Given the description of an element on the screen output the (x, y) to click on. 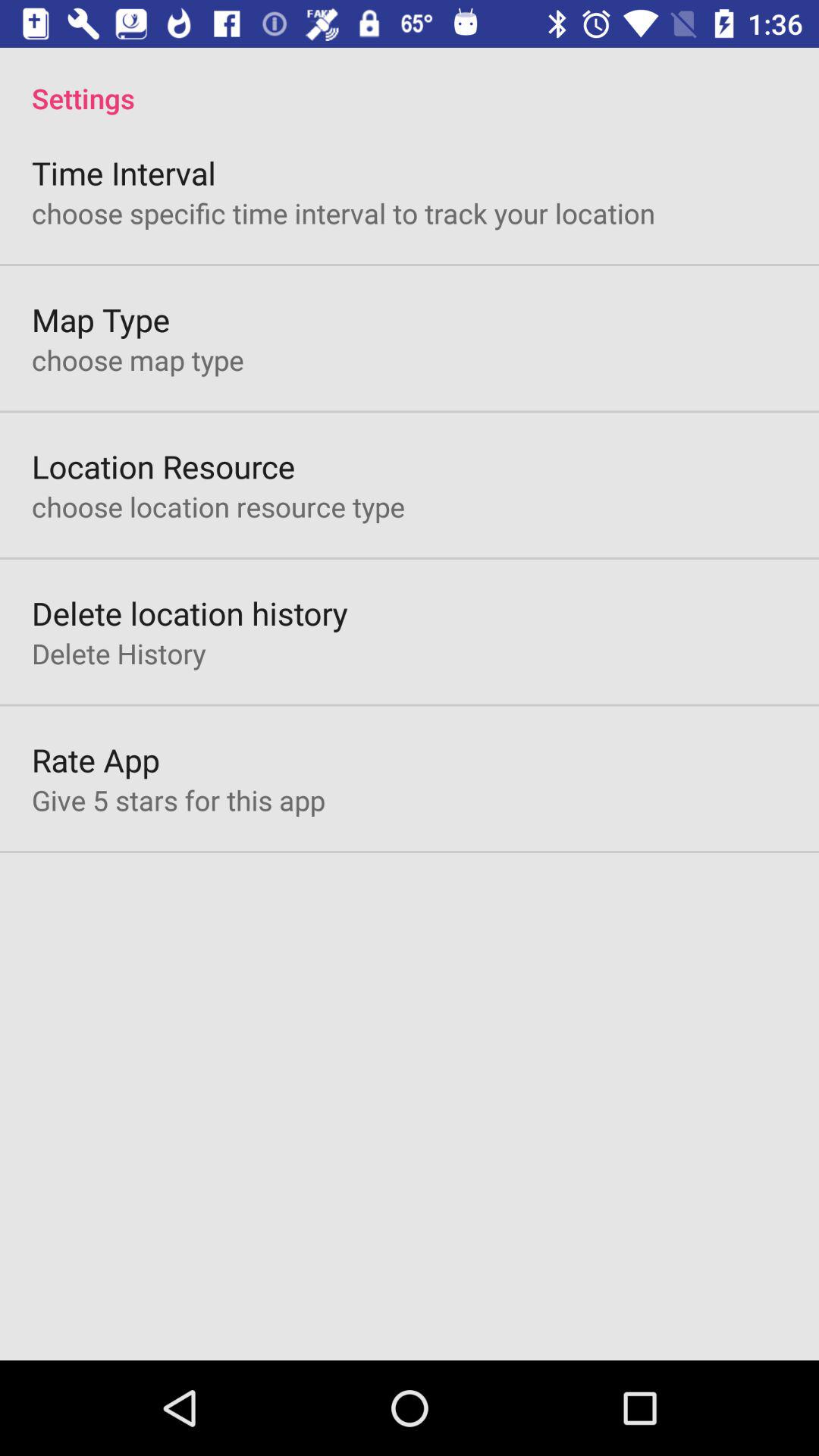
open the give 5 stars item (178, 800)
